Given the description of an element on the screen output the (x, y) to click on. 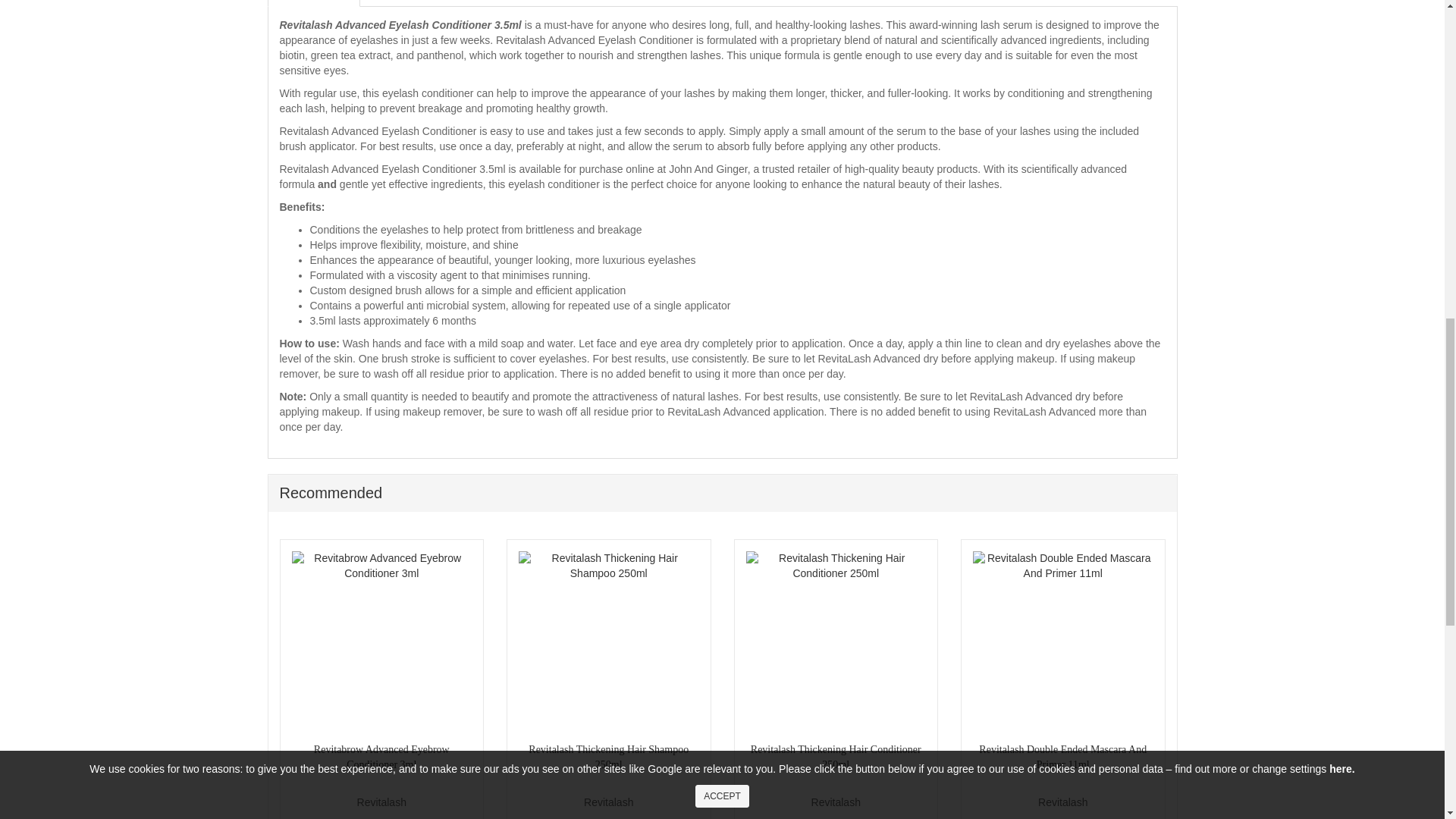
Revitabrow Advanced Eyebrow Conditioner 3ml (381, 641)
Revitalash Thickening Hair Shampoo 250ml (608, 641)
Revitalash Double Ended Mascara And Primer 11ml (1062, 641)
Revitalash Thickening Hair Conditioner 250ml (835, 641)
